Given the description of an element on the screen output the (x, y) to click on. 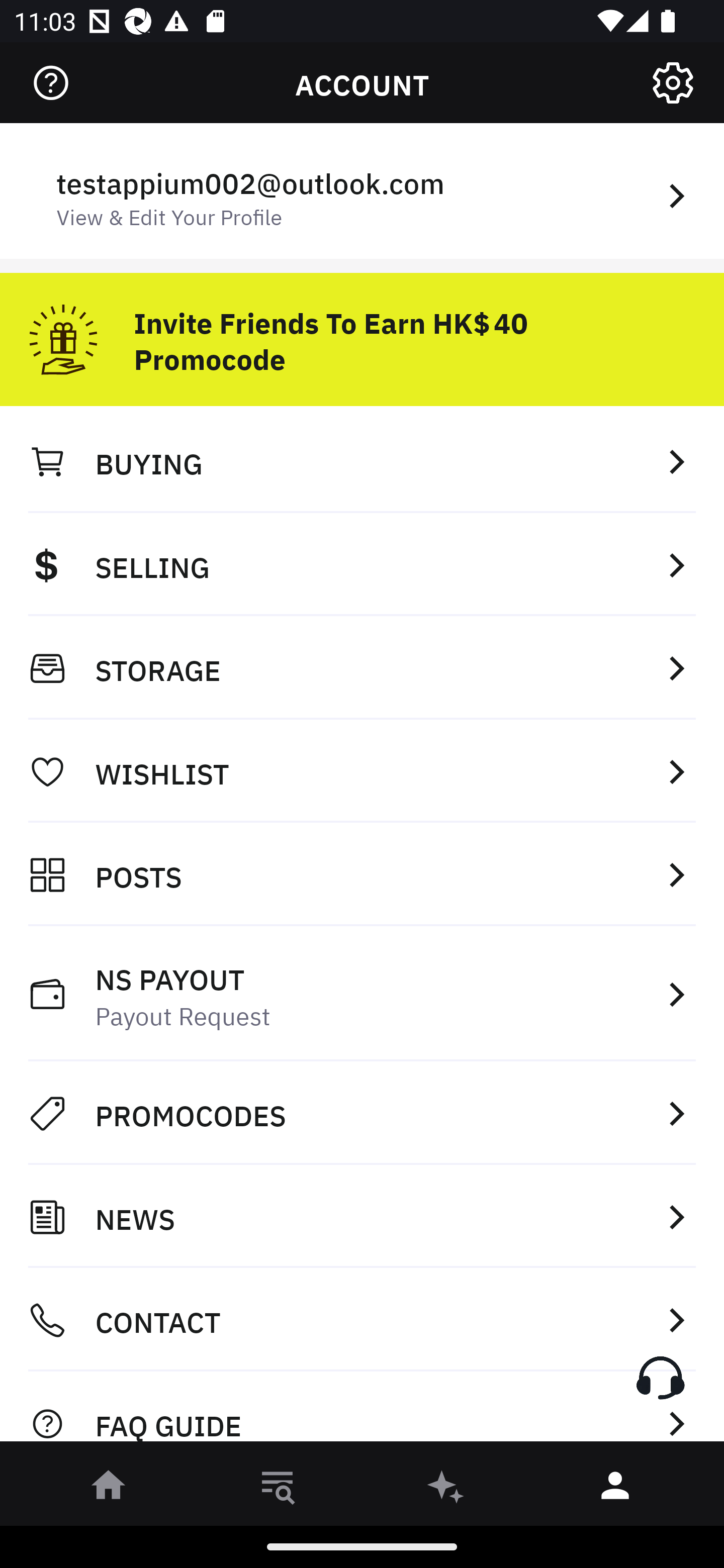
 (50, 83)
 (672, 83)
Invite Friends To Earn HK$ 40 Promocode (362, 332)
 BUYING  (361, 460)
 SELLING  (361, 564)
 STORAGE  (361, 667)
 WISHLIST  (361, 771)
 POSTS  (361, 874)
 0 NS PAYOUT Payout Request  (361, 993)
 PROMOCODES  (361, 1113)
 NEWS  (361, 1216)
 CONTACT  (361, 1320)
 FAQ GUIDE  (361, 1411)
󰋜 (108, 1488)
󱎸 (277, 1488)
󰫢 (446, 1488)
󰀄 (615, 1488)
